Given the description of an element on the screen output the (x, y) to click on. 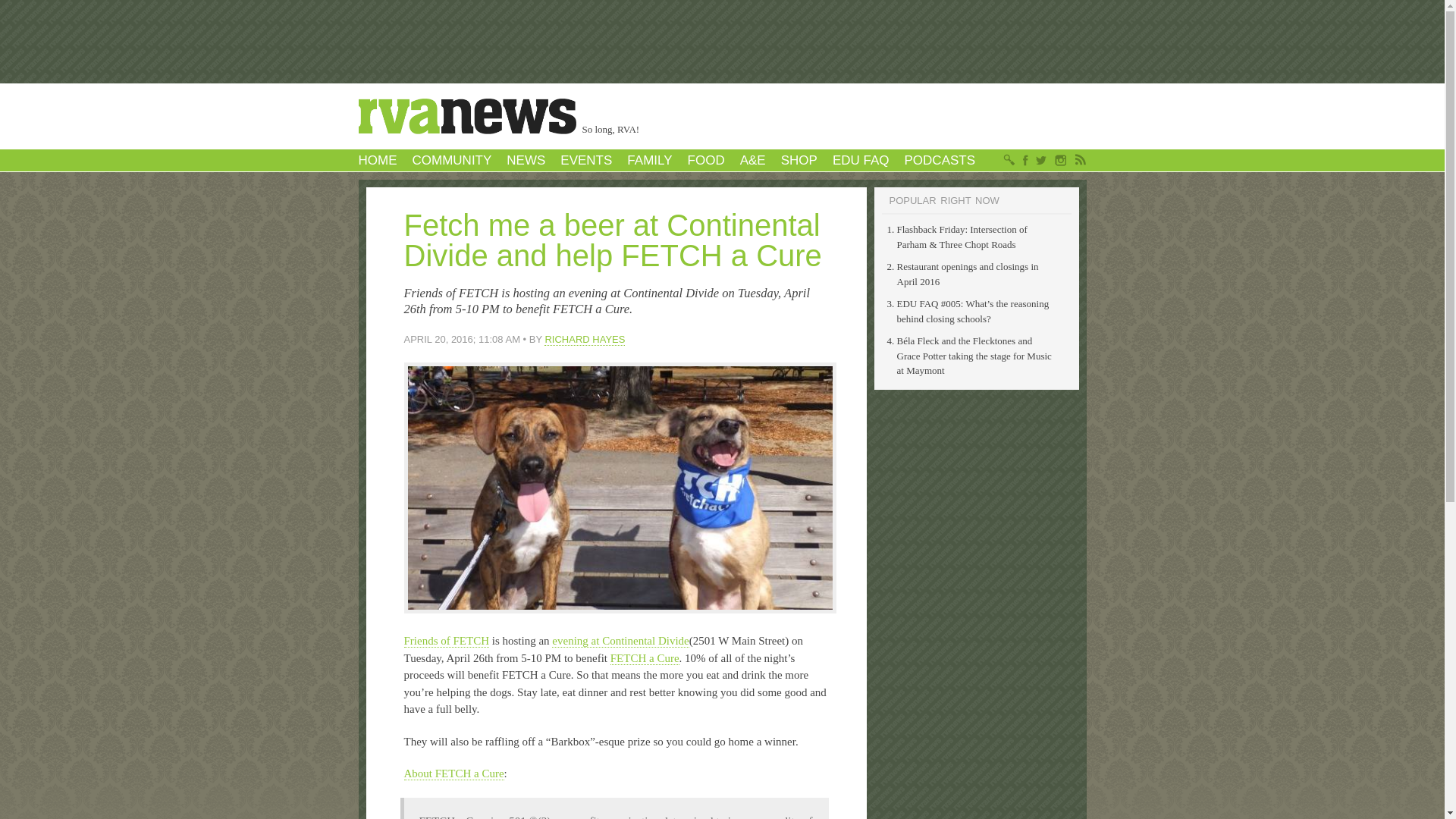
EVENTS (585, 160)
HOME (377, 160)
NEWS (525, 160)
COMMUNITY (452, 160)
